Given the description of an element on the screen output the (x, y) to click on. 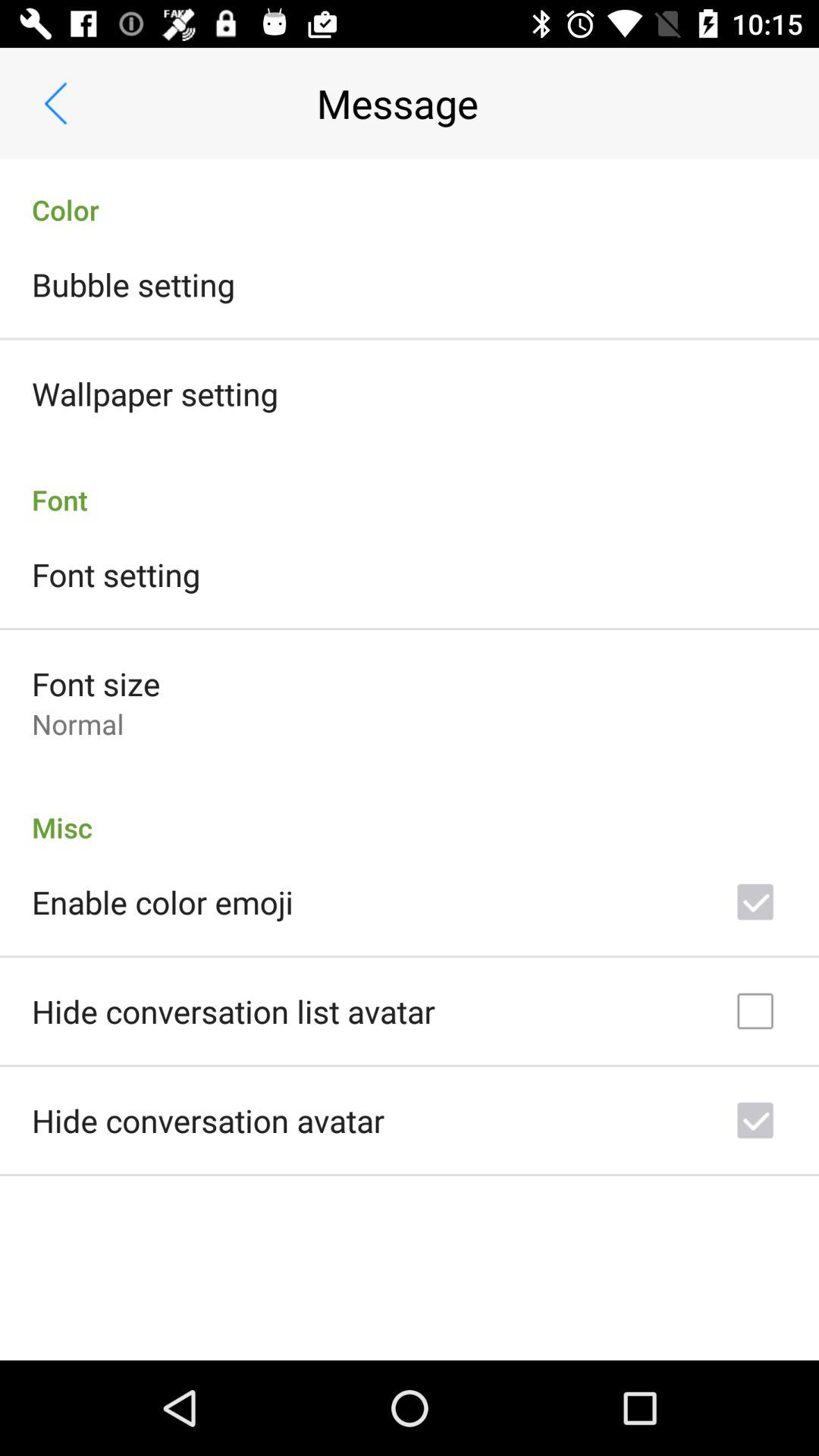
launch item below color icon (132, 283)
